Given the description of an element on the screen output the (x, y) to click on. 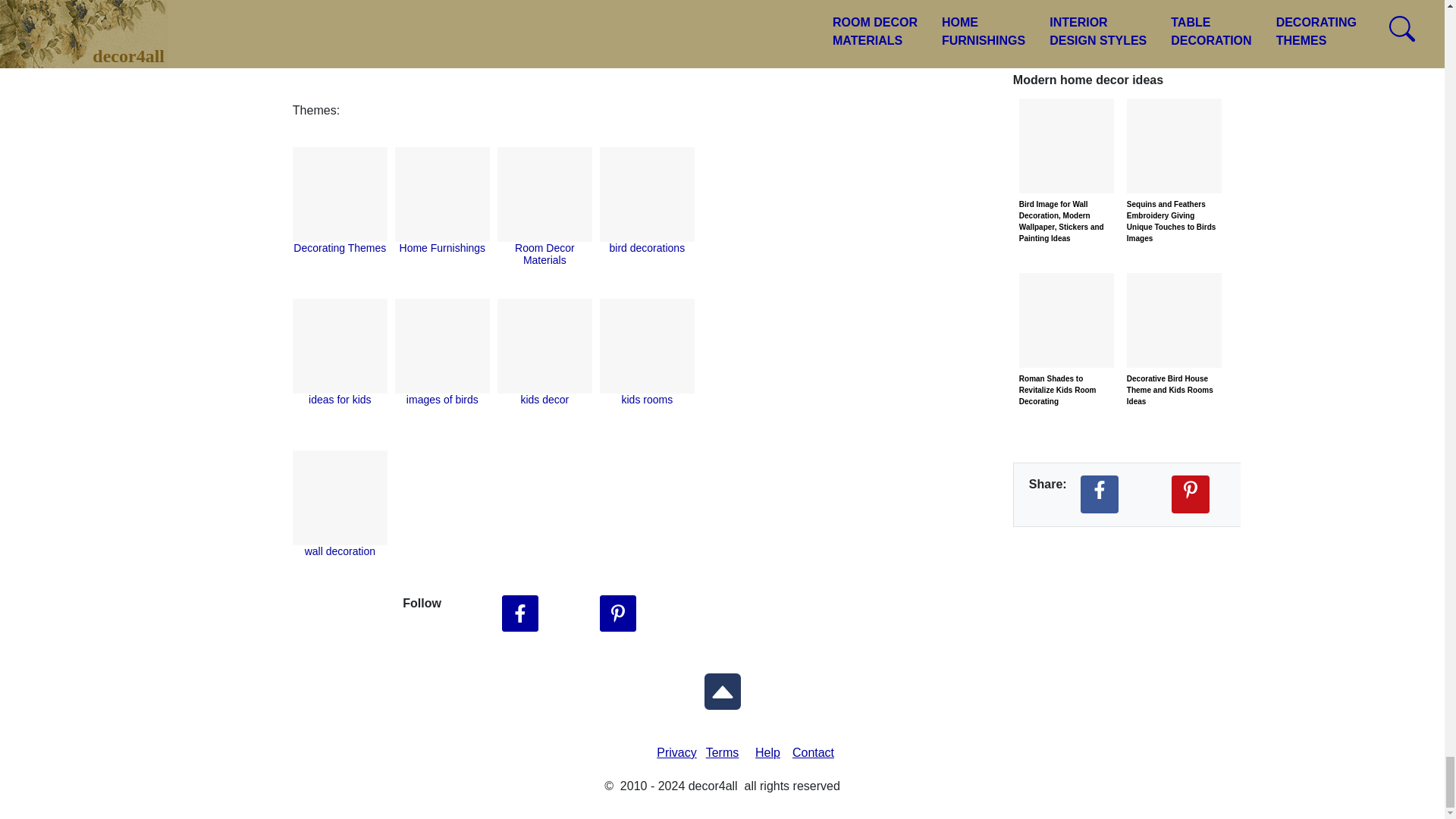
Decorating Themes (339, 247)
ideas for kids (339, 399)
wall decoration (339, 551)
kids decor (544, 399)
Home Furnishings (442, 247)
kids rooms (646, 399)
bird decorations (647, 247)
images of birds (442, 399)
Room Decor Materials (545, 253)
